Given the description of an element on the screen output the (x, y) to click on. 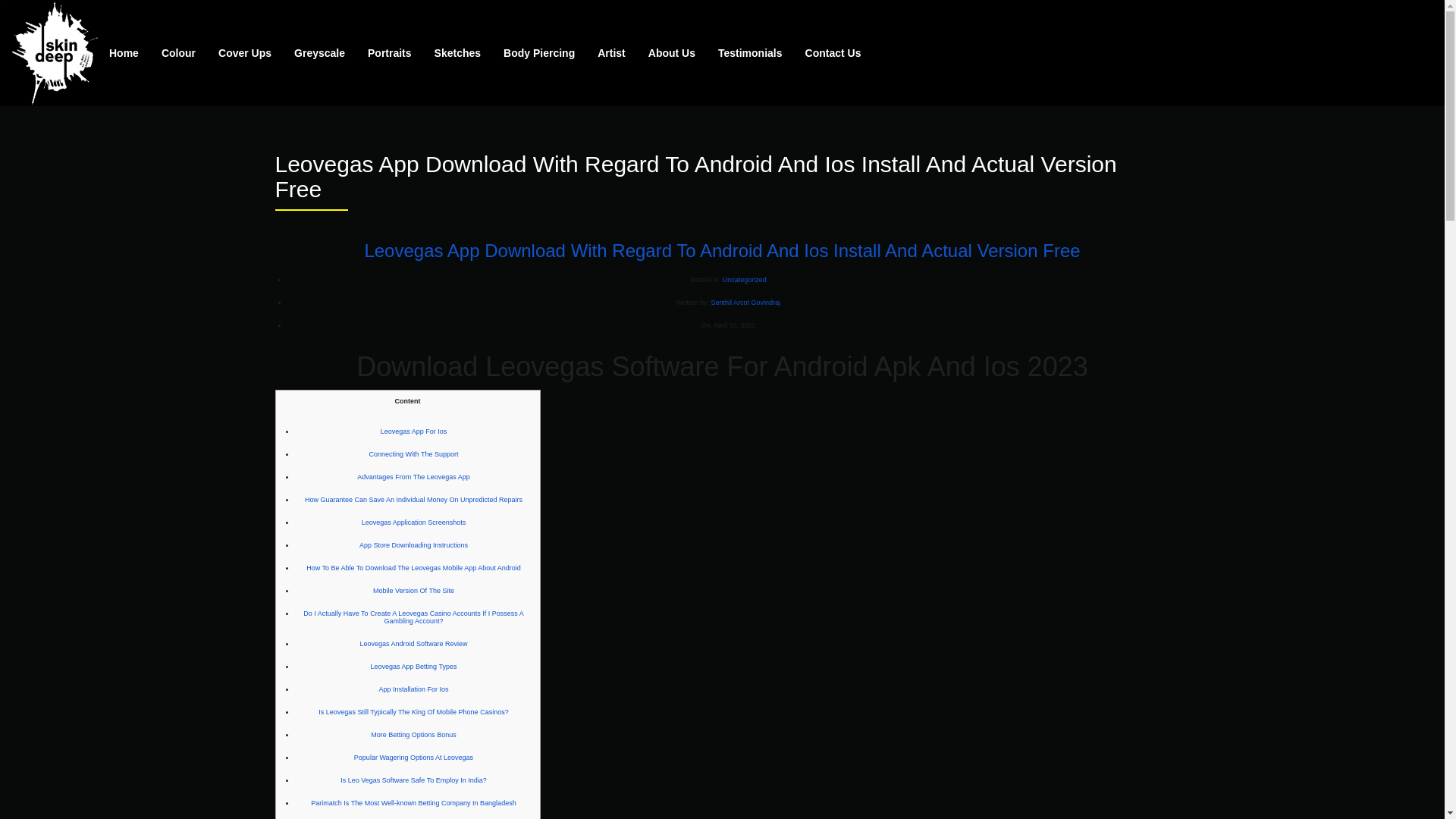
More Betting Options Bonus (414, 734)
Connecting With The Support (413, 453)
Leovegas Android Software Review (413, 643)
Uncategorized (744, 279)
Mobile Version Of The Site (413, 590)
Advantages From The Leovegas App (412, 476)
Is Leo Vegas Software Safe To Employ In India? (413, 779)
Leovegas App For Ios (413, 430)
App Store Downloading Instructions (413, 544)
App Installation For Ios (413, 688)
Leovegas Application Screenshots (413, 522)
